Given the description of an element on the screen output the (x, y) to click on. 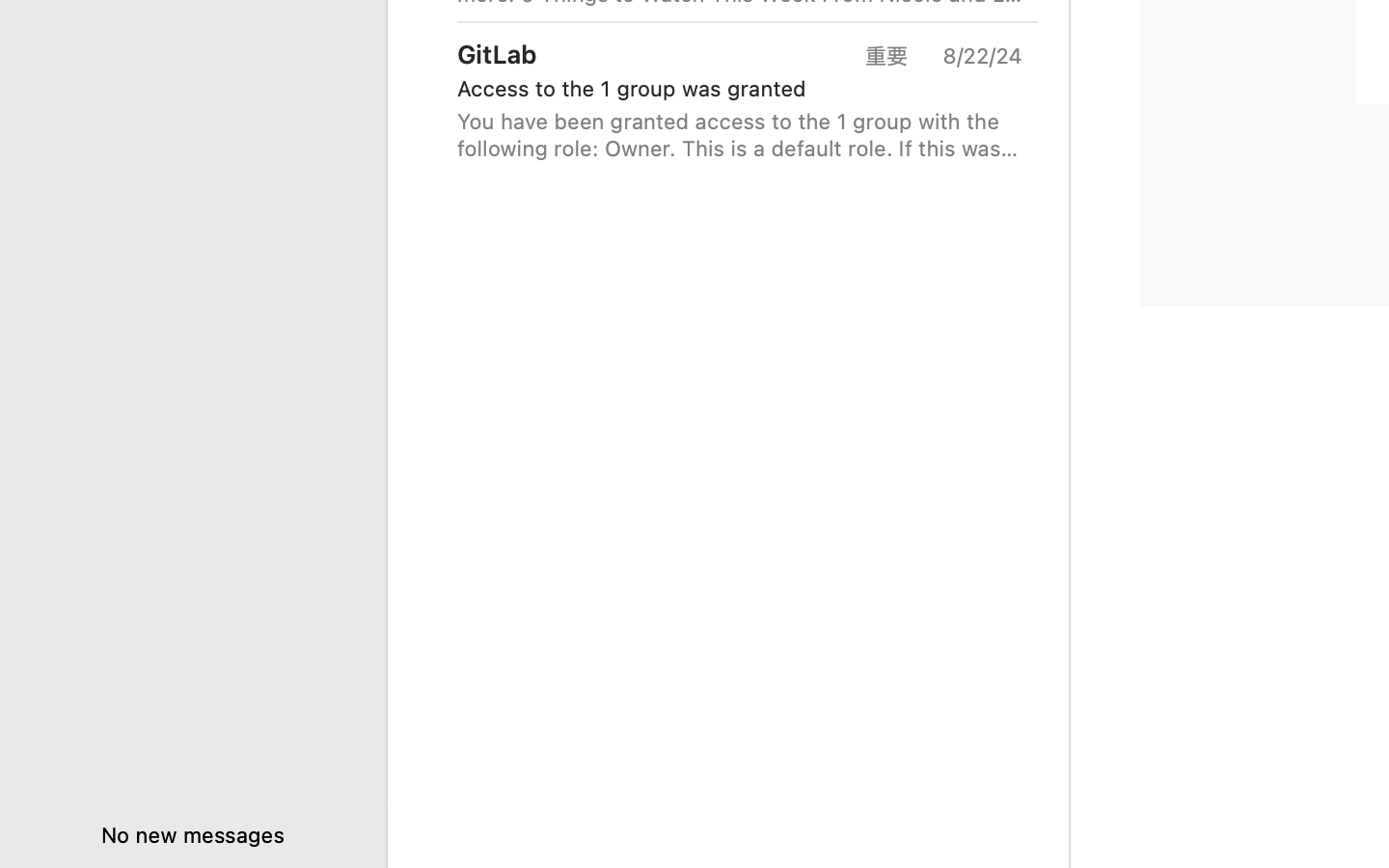
重要 Element type: AXStaticText (893, 55)
No new messages Element type: AXStaticText (191, 834)
